Given the description of an element on the screen output the (x, y) to click on. 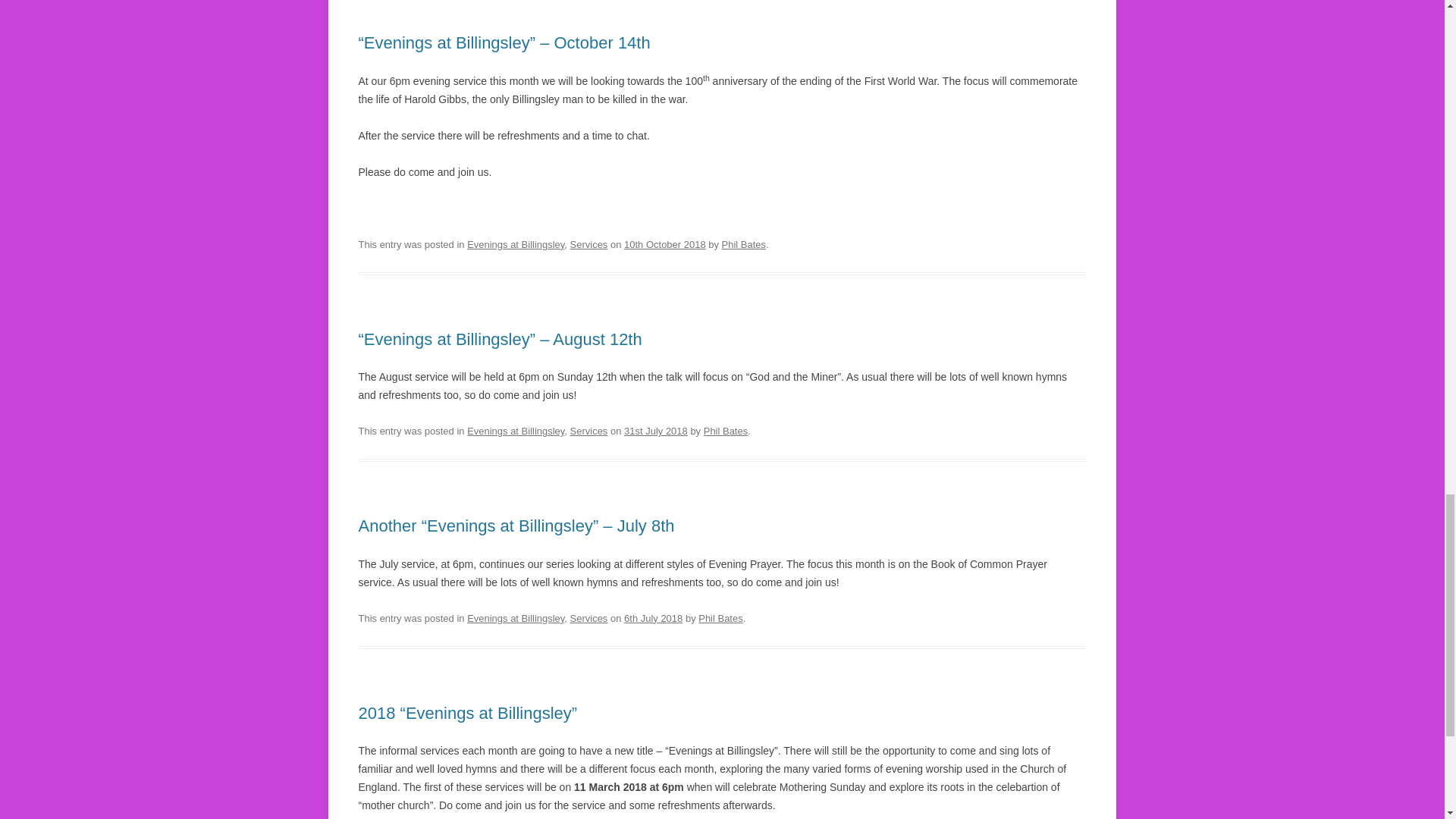
7:51 pm (655, 430)
View all posts by Phil Bates (725, 430)
Evenings at Billingsley (515, 244)
View all posts by Phil Bates (743, 244)
6:02 pm (665, 244)
